Given the description of an element on the screen output the (x, y) to click on. 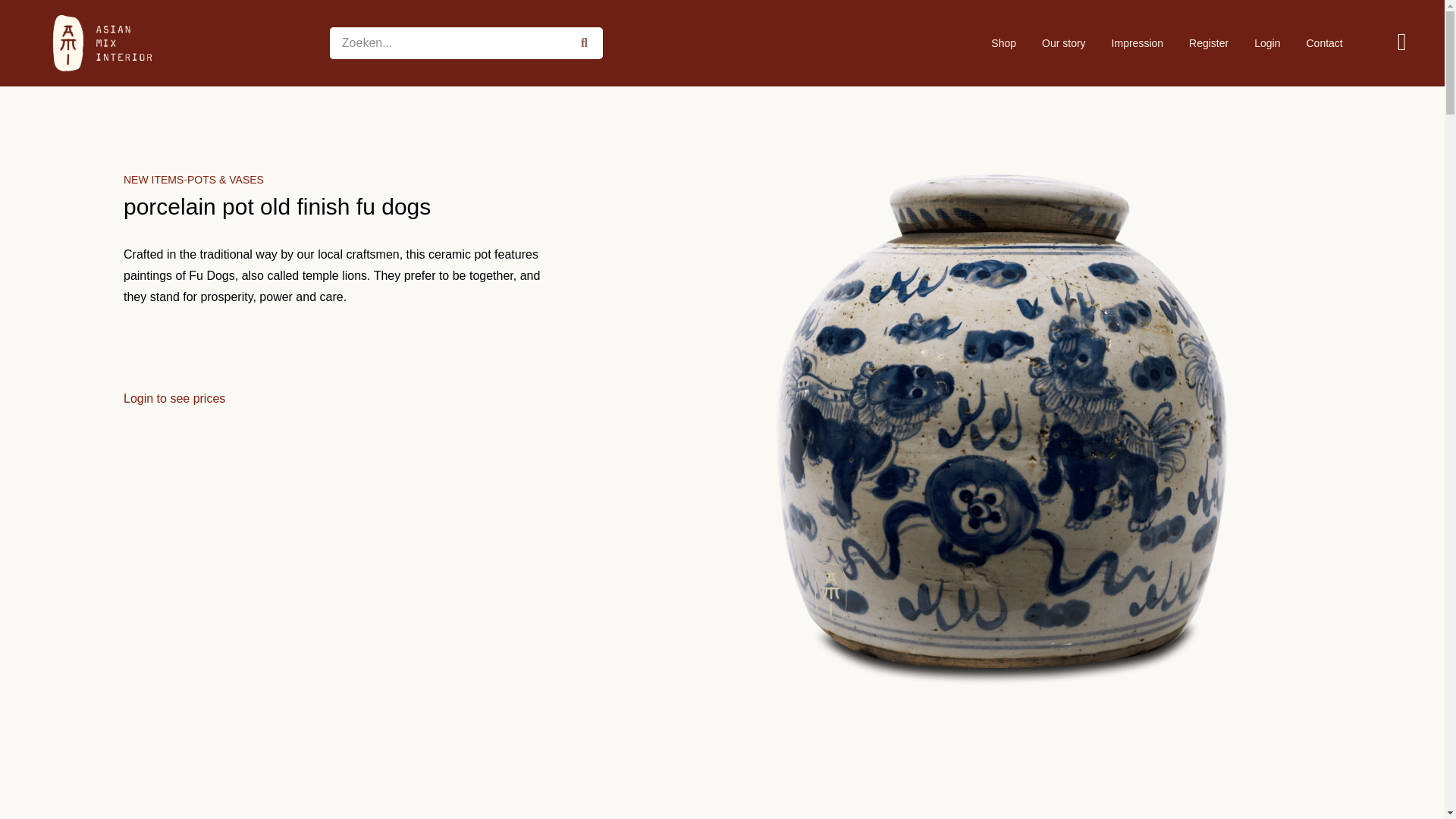
Impression (1137, 43)
Our story (1064, 43)
Shop (1003, 43)
Contact (1324, 43)
Register (1208, 43)
Login (1266, 43)
DSC02914 (1002, 787)
